Given the description of an element on the screen output the (x, y) to click on. 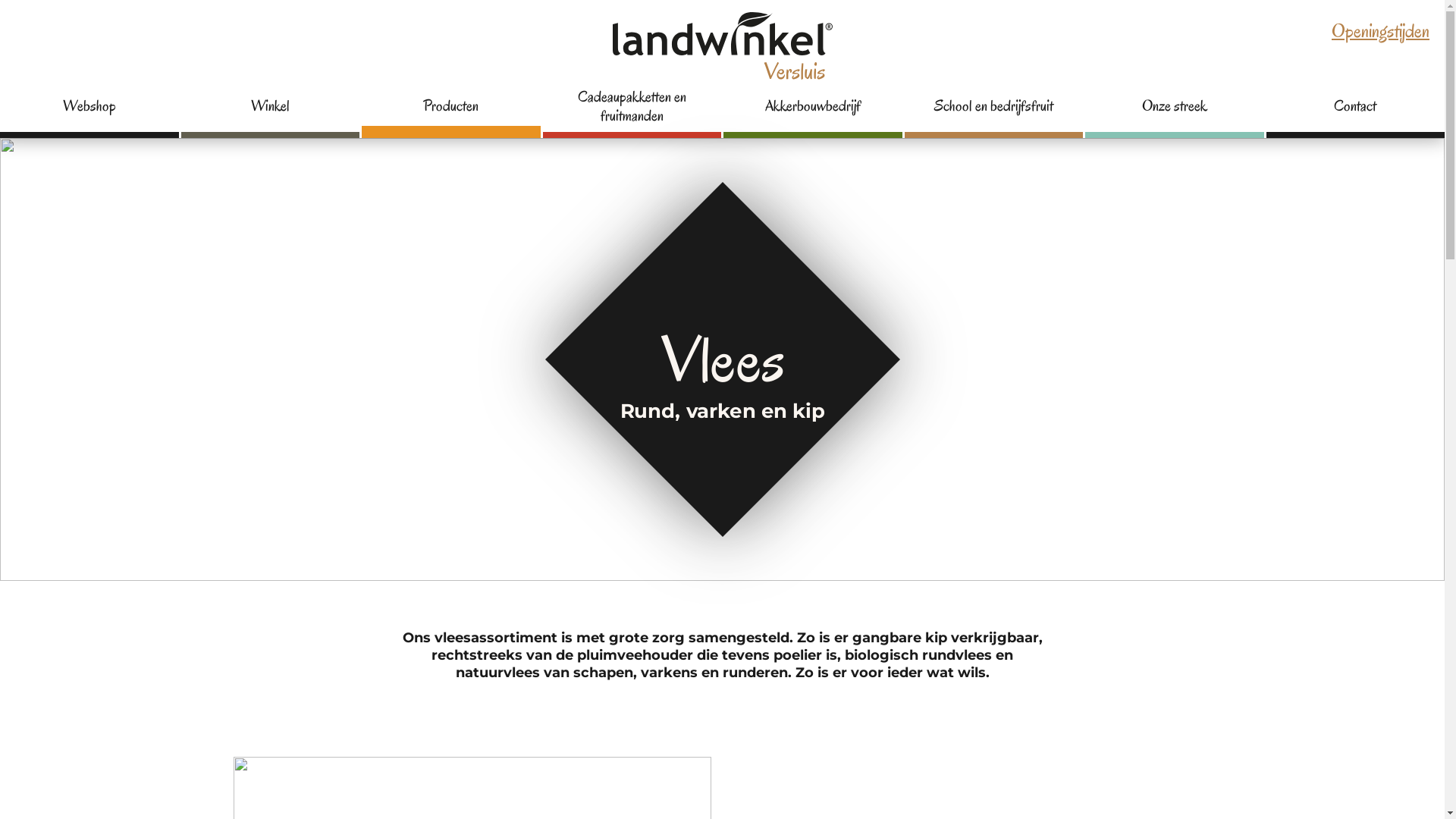
Webshop Element type: text (89, 112)
School en bedrijfsfruit Element type: text (992, 112)
Openingstijden Element type: text (1380, 30)
Producten Element type: text (450, 112)
Winkel Element type: text (269, 112)
Cadeaupakketten en fruitmanden Element type: text (631, 112)
Contact Element type: text (1355, 112)
Akkerbouwbedrijf Element type: text (812, 112)
Home van Landwinkel Versluis Element type: hover (722, 49)
Overslaan en naar de inhoud gaan Element type: text (0, 0)
Onze streek Element type: text (1174, 112)
